Given the description of an element on the screen output the (x, y) to click on. 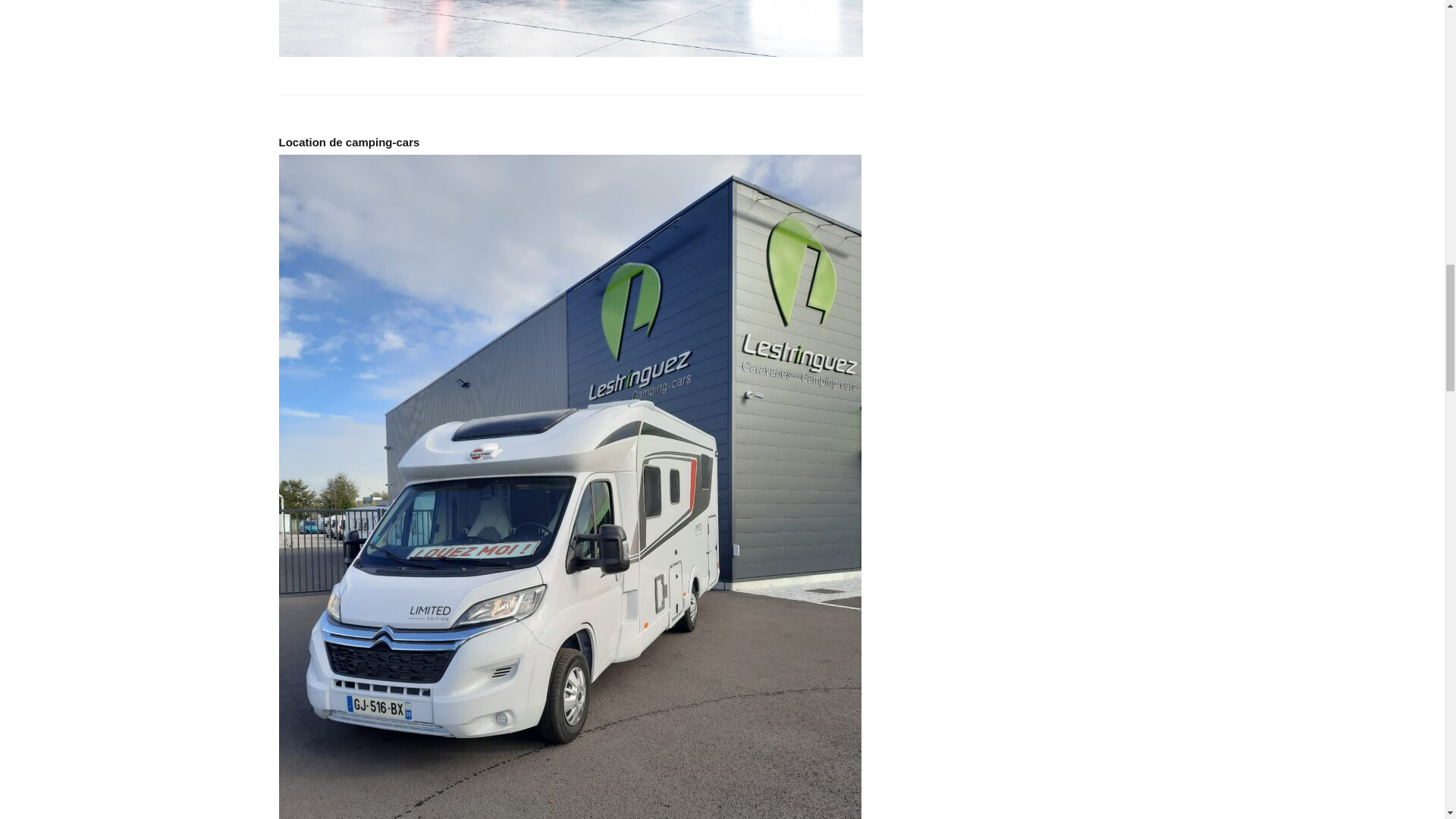
tour operator camping car (571, 28)
